Given the description of an element on the screen output the (x, y) to click on. 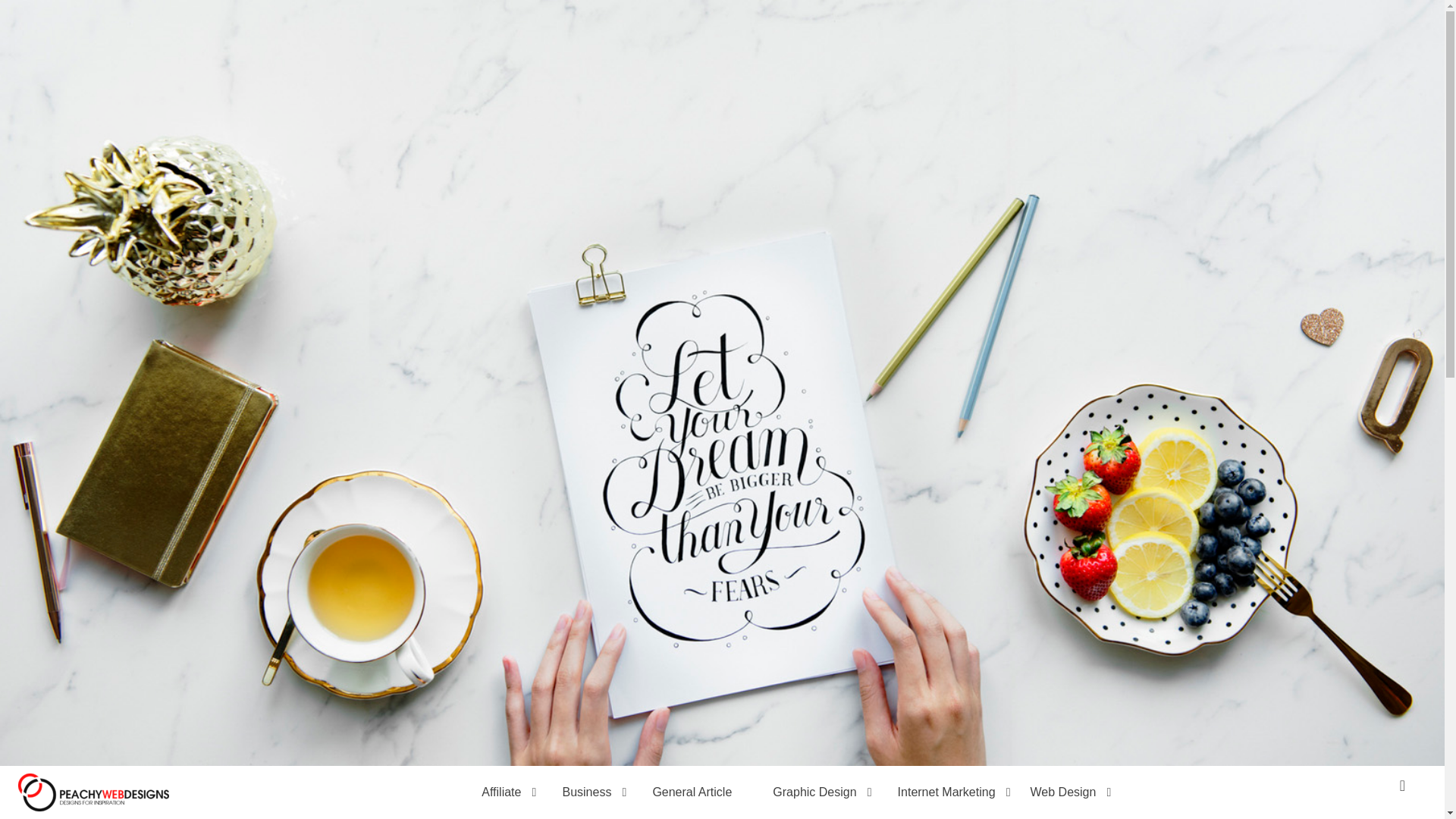
Peachy Web Designs (404, 68)
Business (586, 792)
Internet Marketing (946, 792)
General Article (691, 792)
Graphic Design (814, 792)
General Article (691, 792)
Affiliate (501, 792)
Affiliate (501, 792)
Business (586, 792)
Graphic Design (814, 792)
